Given the description of an element on the screen output the (x, y) to click on. 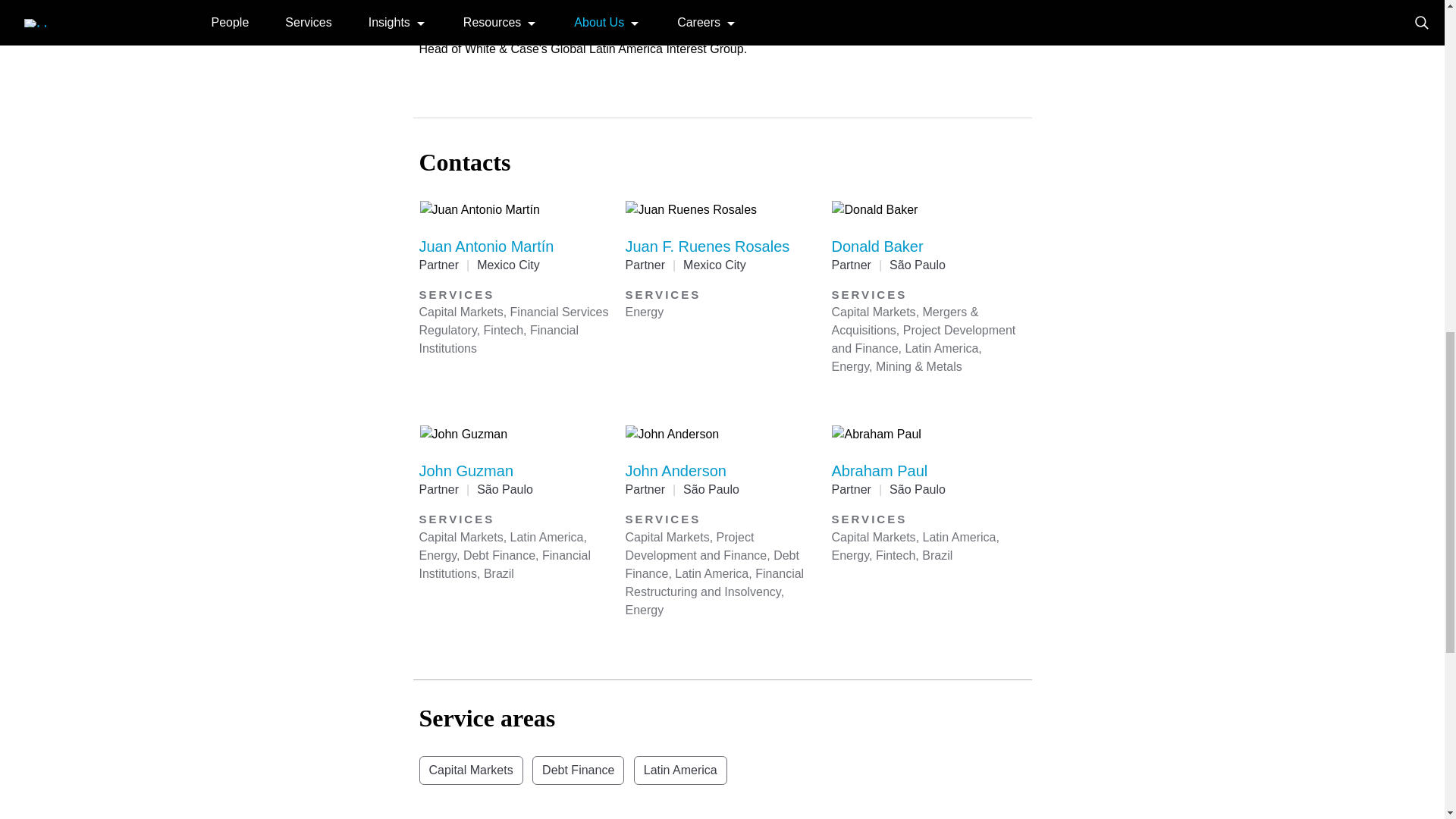
Juan F. Ruenes Rosales (706, 246)
Donald Baker (877, 246)
John Guzman (466, 470)
Abraham Paul (879, 470)
John Anderson (674, 470)
